Given the description of an element on the screen output the (x, y) to click on. 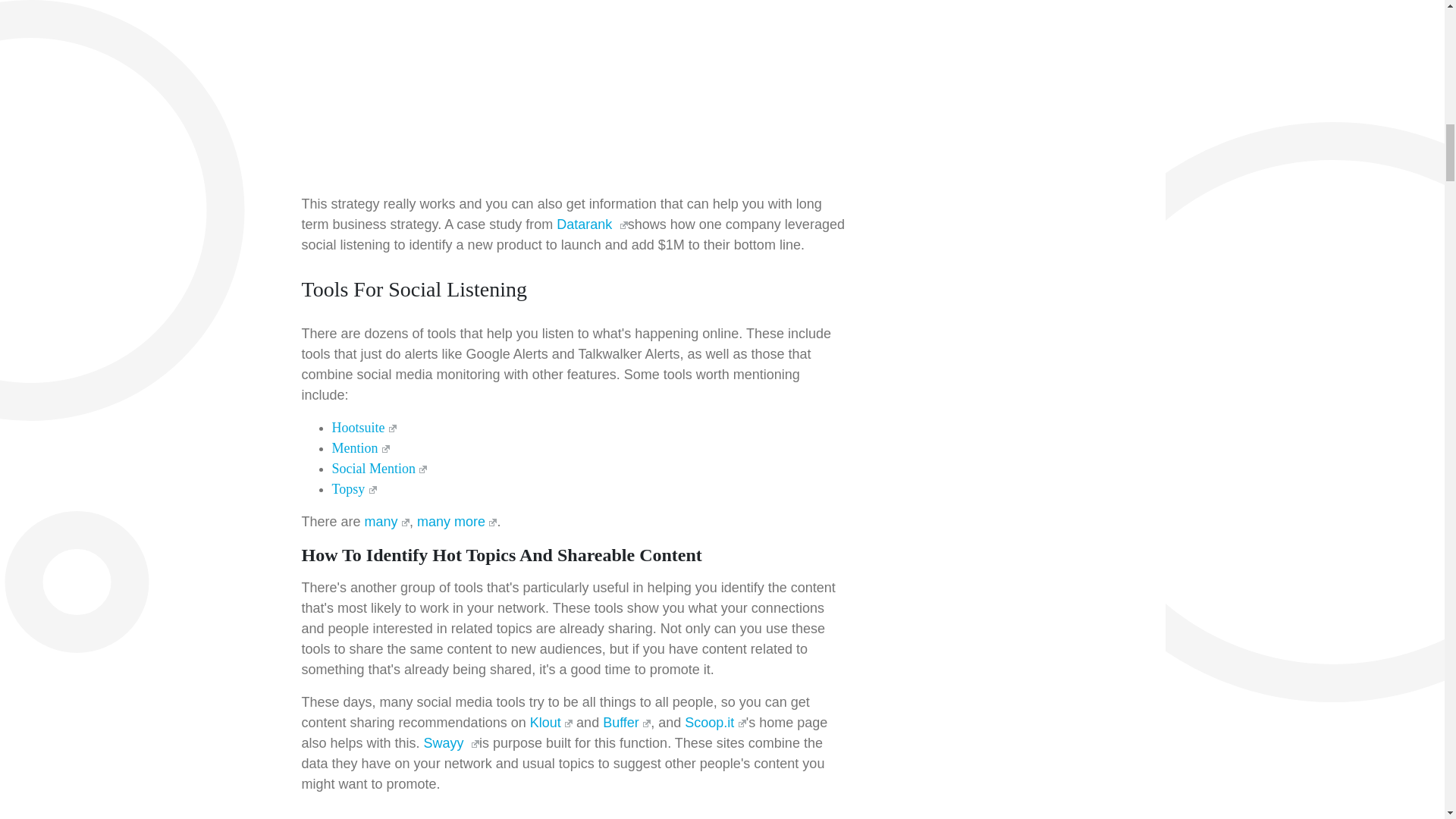
many (387, 521)
Klout (550, 722)
Topsy (354, 488)
Mention (360, 447)
Scoop.it (714, 722)
Buffer (626, 722)
Swayy (451, 743)
Hootsuite (363, 427)
Social Mention (379, 468)
Datarank (591, 224)
